Given the description of an element on the screen output the (x, y) to click on. 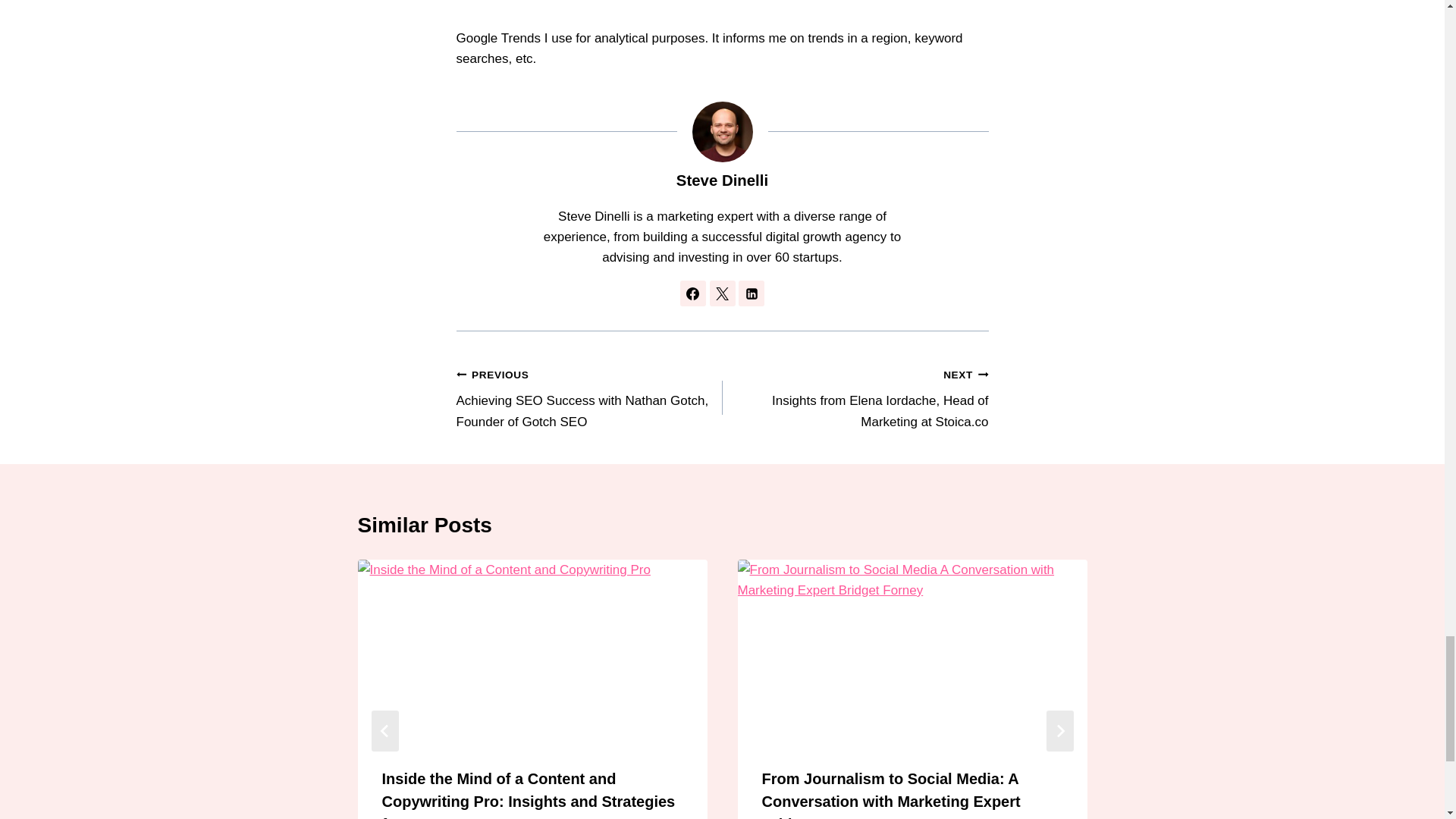
Follow Steve Dinelli on X formerly Twitter (722, 293)
Follow Steve Dinelli on Facebook (692, 293)
Follow Steve Dinelli on Linkedin (751, 293)
